Given the description of an element on the screen output the (x, y) to click on. 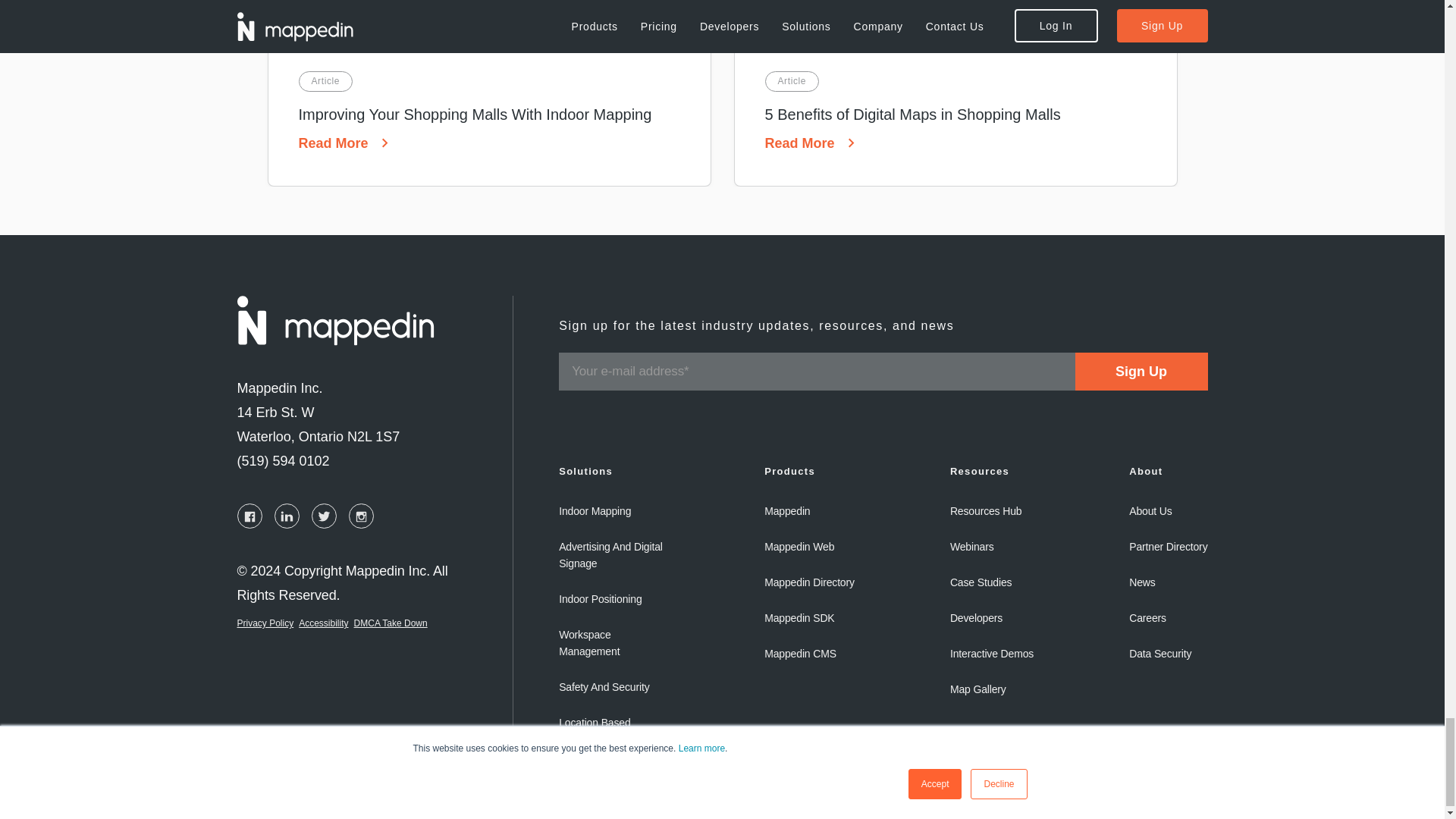
Sign Up (1141, 371)
